Given the description of an element on the screen output the (x, y) to click on. 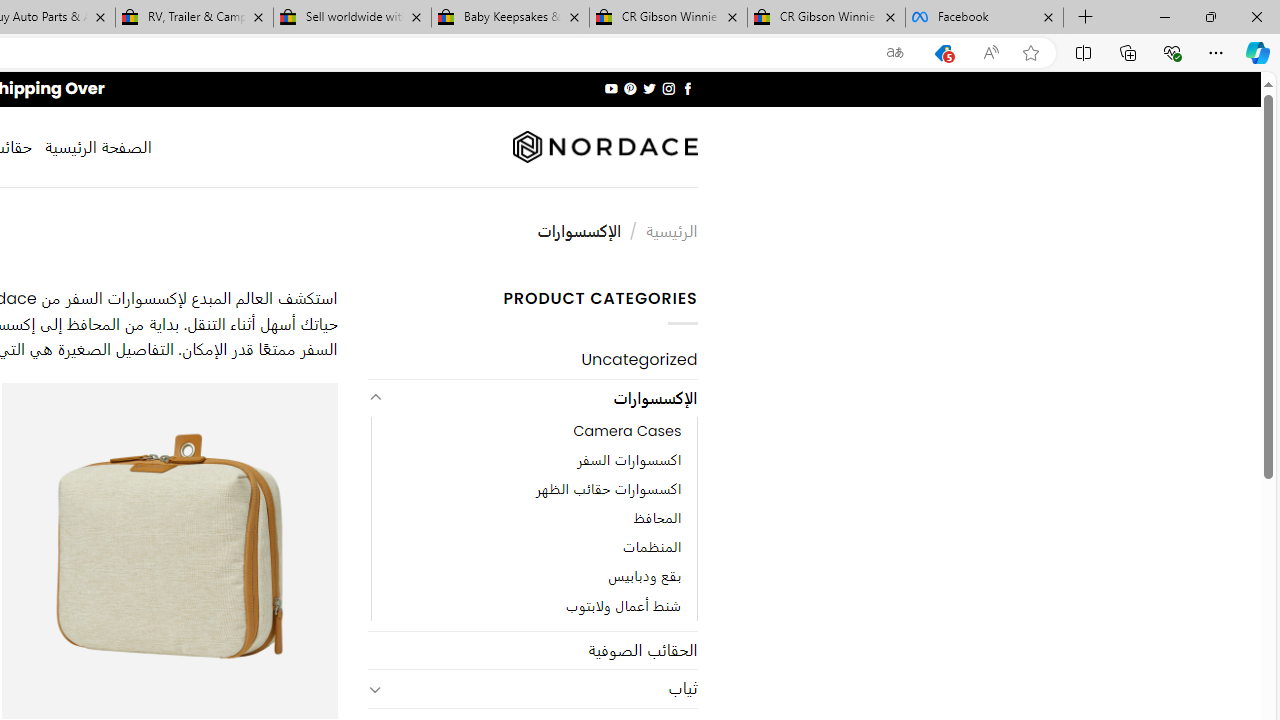
Follow on Twitter (648, 88)
Facebook (984, 17)
Uncategorized (532, 359)
Restore (1210, 16)
Follow on Facebook (686, 88)
Follow on YouTube (611, 88)
This site has coupons! Shopping in Microsoft Edge, 5 (943, 53)
Add this page to favorites (Ctrl+D) (1030, 53)
Baby Keepsakes & Announcements for sale | eBay (509, 17)
Browser essentials (1171, 52)
